Given the description of an element on the screen output the (x, y) to click on. 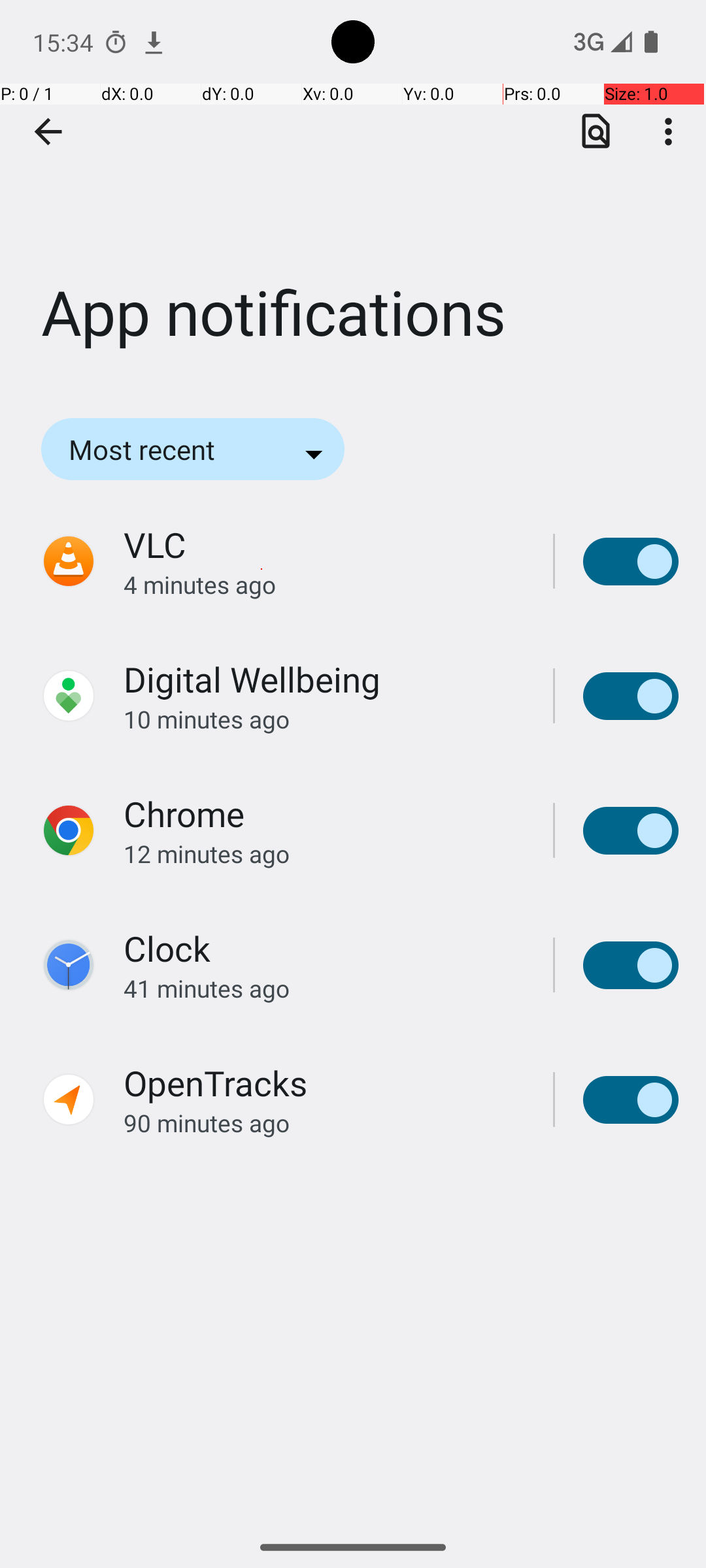
4 minutes ago Element type: android.widget.TextView (324, 584)
10 minutes ago Element type: android.widget.TextView (324, 718)
12 minutes ago Element type: android.widget.TextView (324, 853)
41 minutes ago Element type: android.widget.TextView (324, 987)
90 minutes ago Element type: android.widget.TextView (324, 1122)
